Given the description of an element on the screen output the (x, y) to click on. 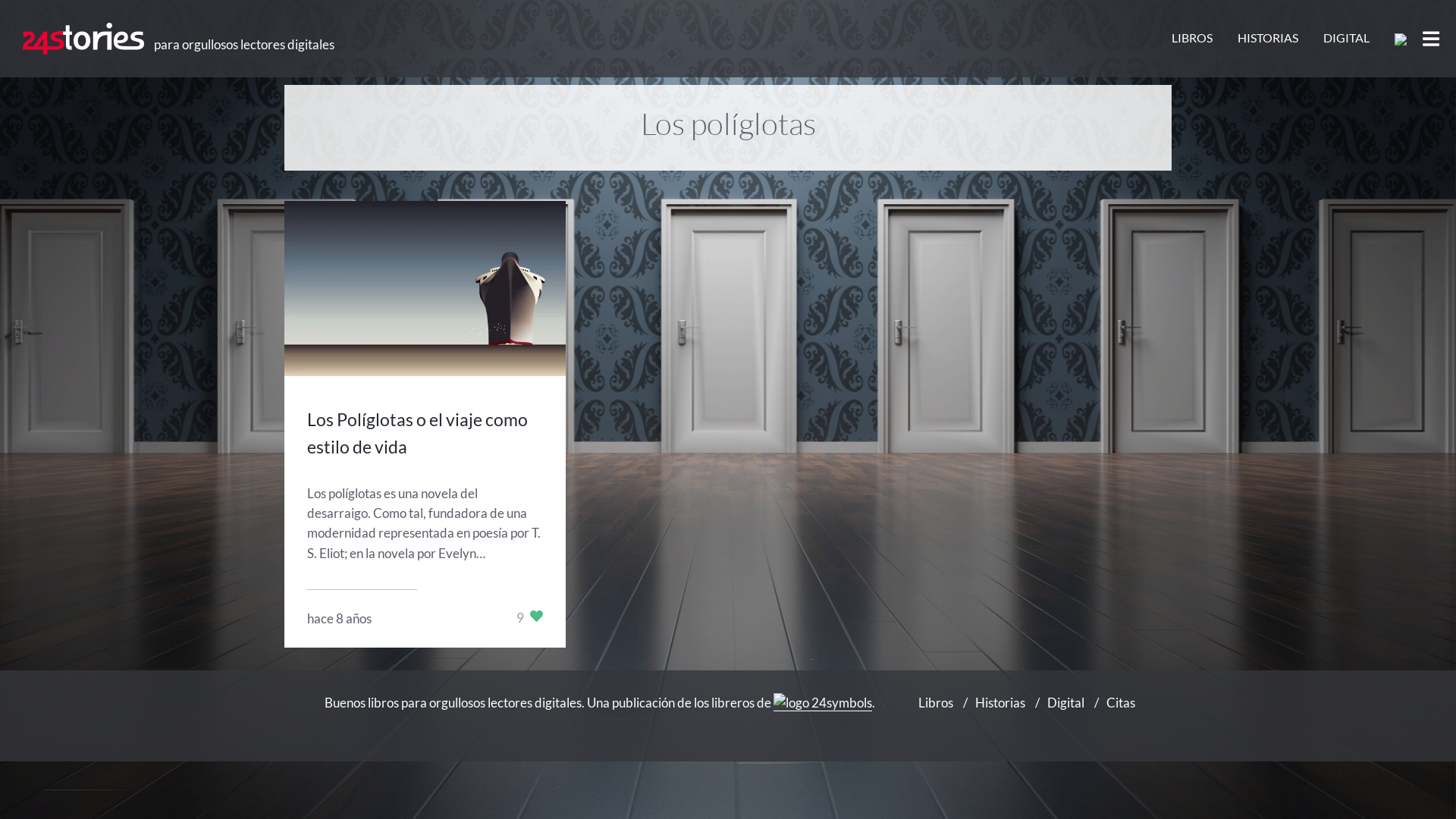
Libros Element type: text (935, 702)
Historias Element type: text (1000, 702)
DIGITAL Element type: text (1346, 37)
Citas Element type: text (1120, 702)
Home Element type: hover (83, 38)
9 Element type: text (528, 616)
LIBROS Element type: text (1191, 37)
Digital Element type: text (1065, 702)
HISTORIAS Element type: text (1267, 37)
